Given the description of an element on the screen output the (x, y) to click on. 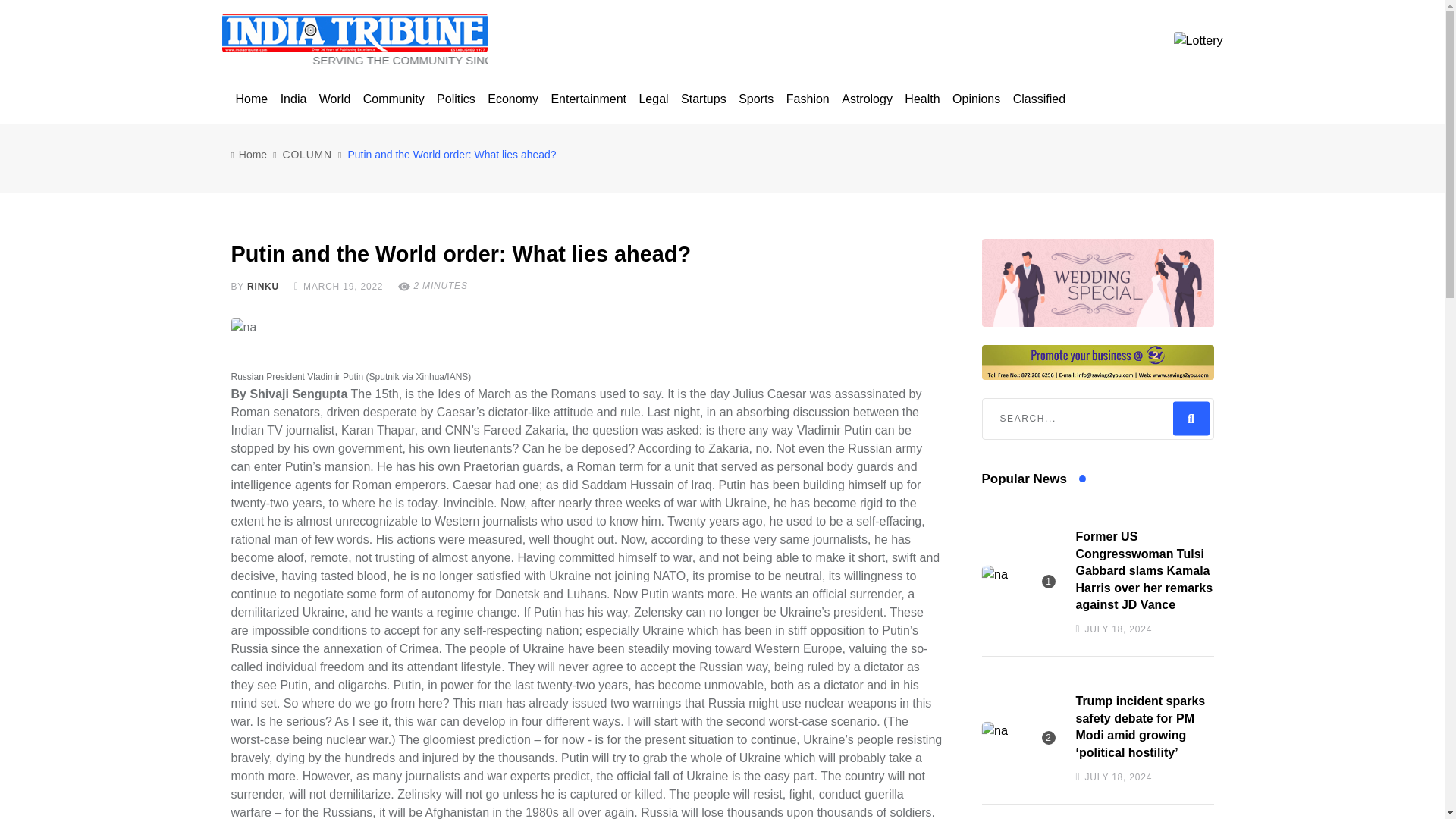
Economy (513, 98)
Entertainment (588, 98)
Politics (456, 98)
Astrology (866, 98)
Startups (703, 98)
Community (393, 98)
Sports (755, 98)
Opinions (975, 98)
Fashion (807, 98)
Health (921, 98)
Classified (1039, 98)
